Given the description of an element on the screen output the (x, y) to click on. 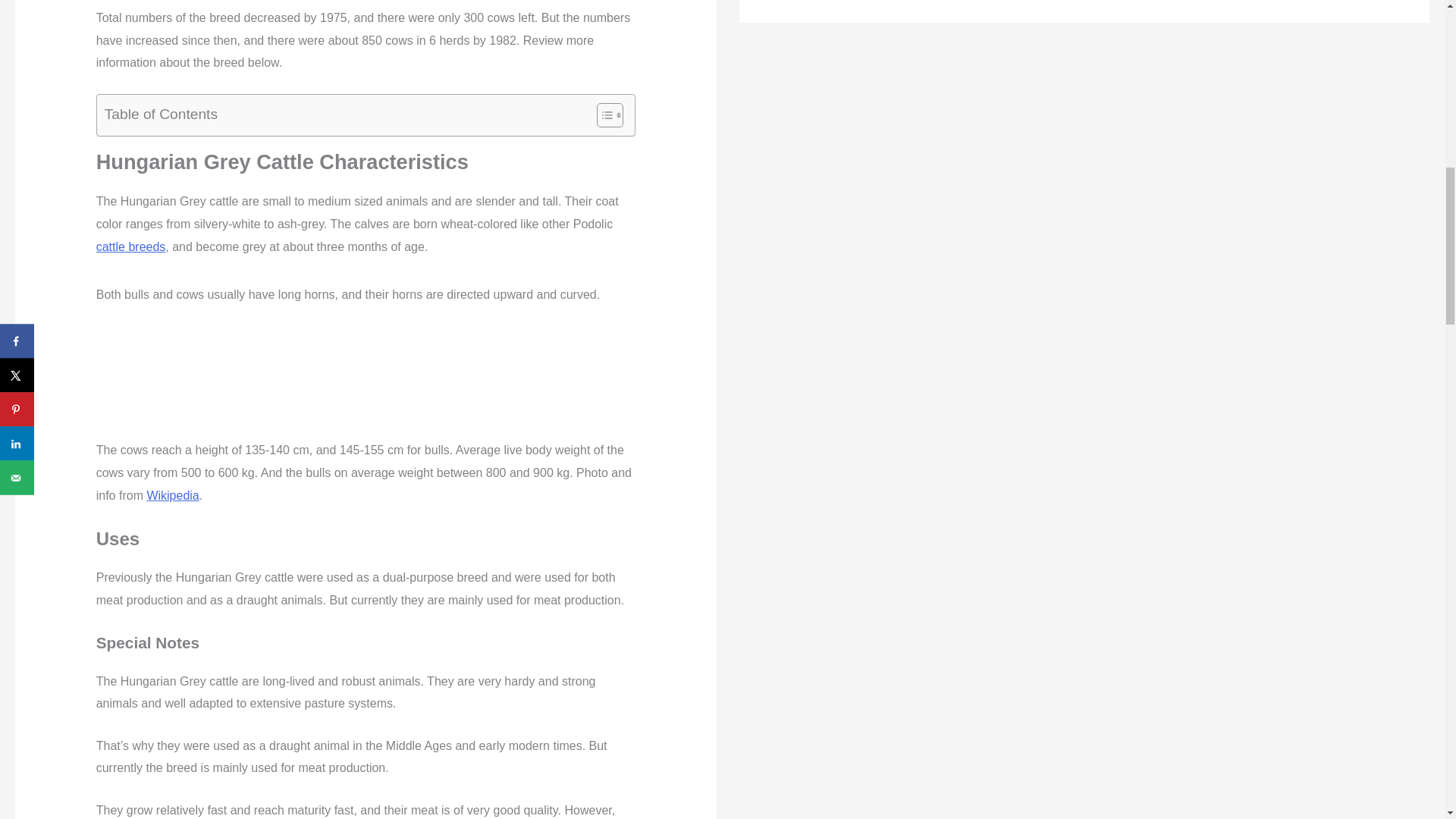
Hungarian Grey Cattle (365, 381)
